Given the description of an element on the screen output the (x, y) to click on. 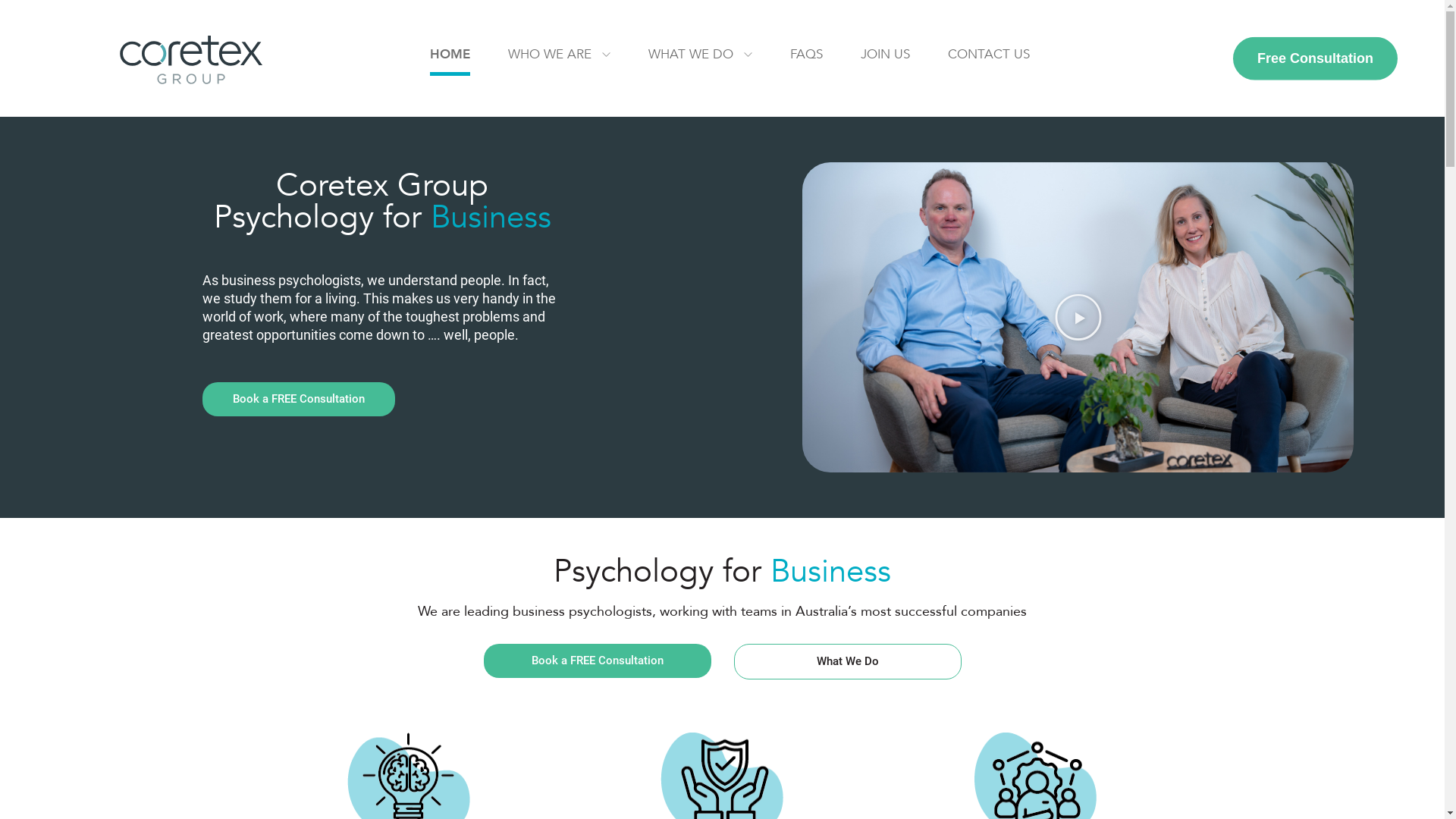
Free Consultation Element type: text (1315, 58)
Book a FREE Consultation Element type: text (597, 660)
CONTACT US Element type: text (988, 56)
WHO WE ARE Element type: text (559, 56)
HOME Element type: text (449, 56)
What We Do Element type: text (847, 661)
FAQS Element type: text (806, 56)
JOIN US Element type: text (885, 56)
WHAT WE DO Element type: text (700, 56)
Book a FREE Consultation Element type: text (298, 399)
